Given the description of an element on the screen output the (x, y) to click on. 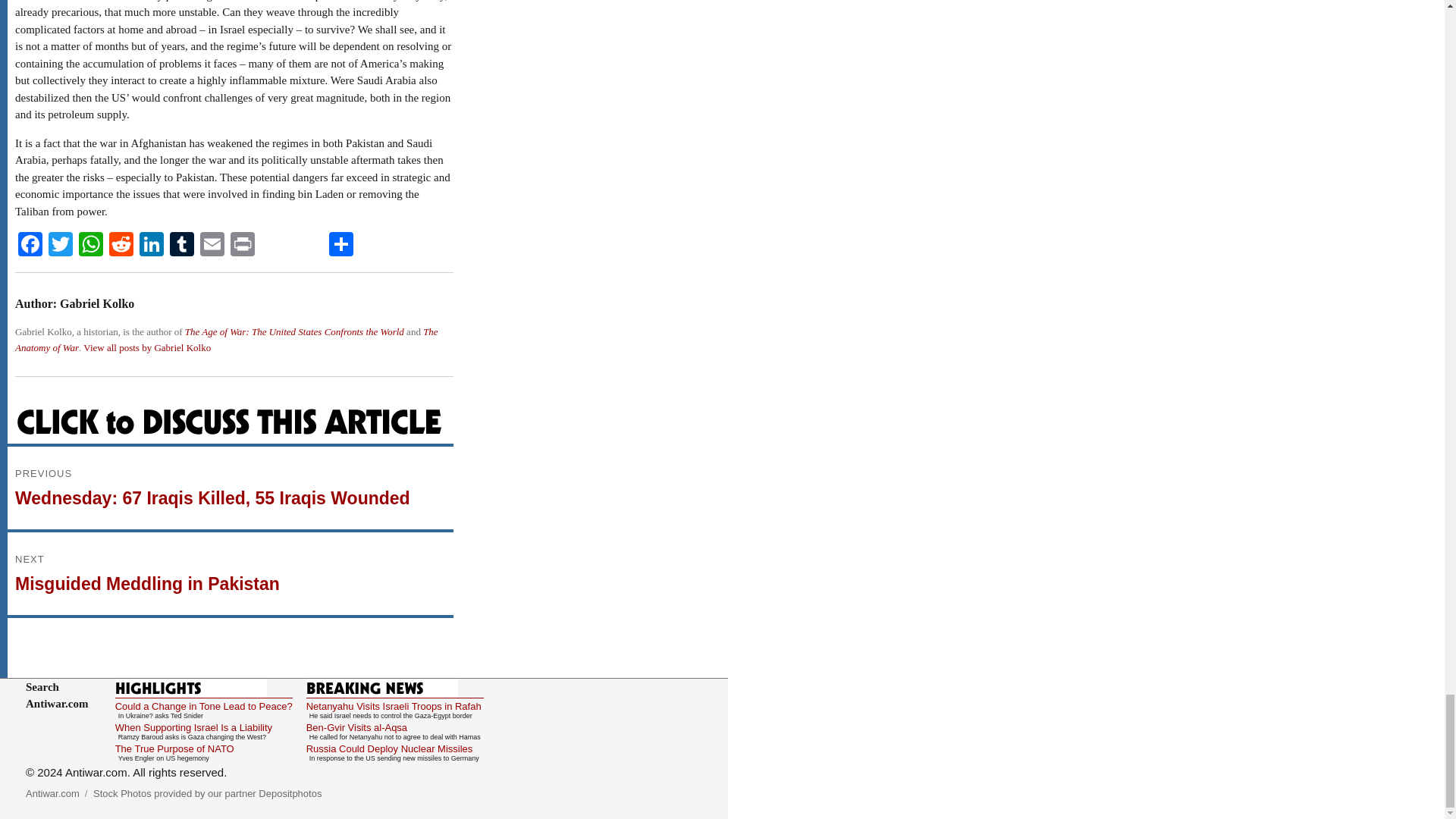
Reddit (121, 245)
Twitter (60, 245)
WhatsApp (90, 245)
Email (211, 245)
The Age of War: The United States Confronts the World (294, 331)
Reddit (121, 245)
Print (242, 245)
Print (242, 245)
Email (211, 245)
Facebook (29, 245)
Tumblr (181, 245)
LinkedIn (151, 245)
Twitter (60, 245)
LinkedIn (151, 245)
Tumblr (181, 245)
